Given the description of an element on the screen output the (x, y) to click on. 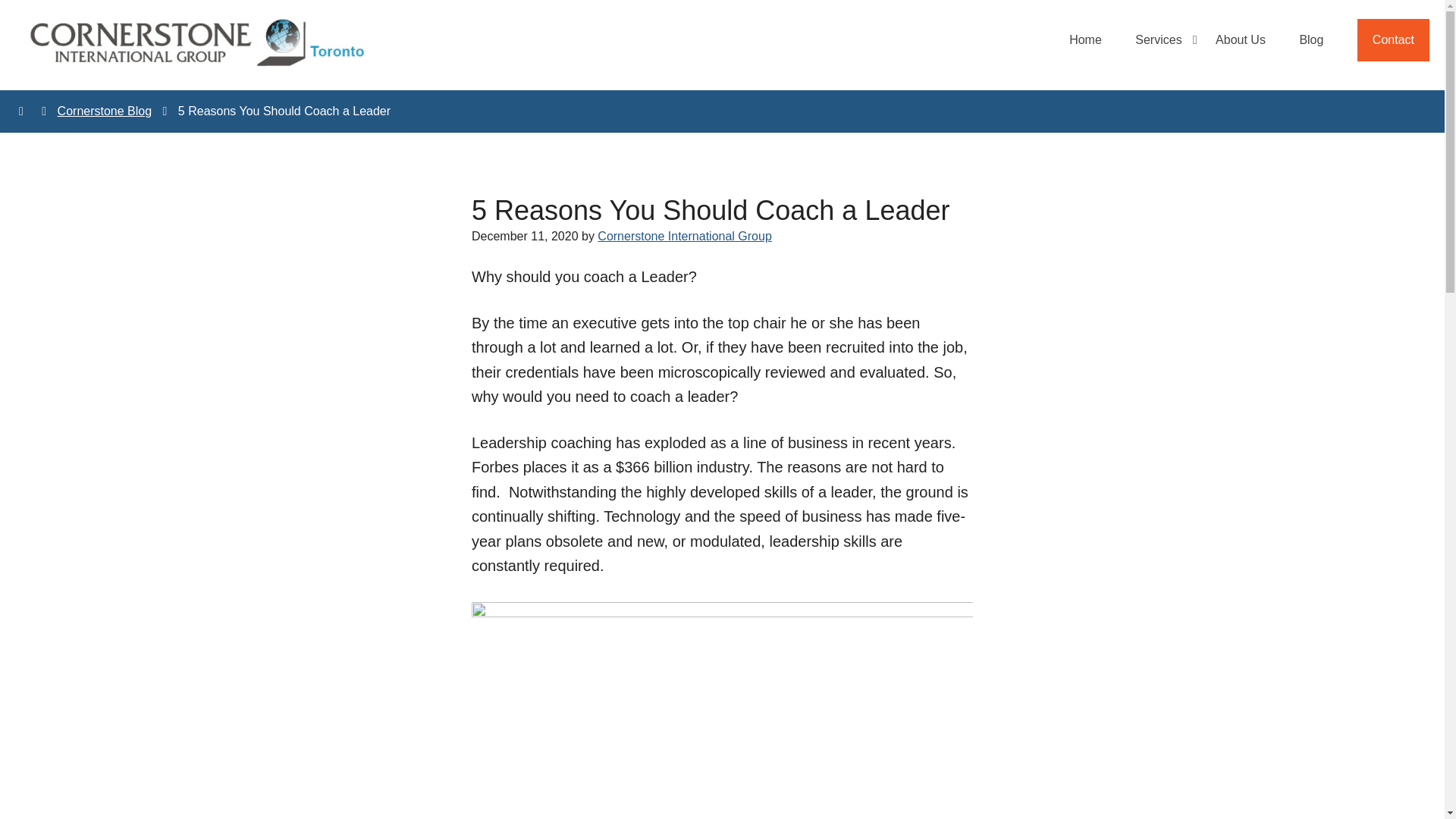
Contact (1392, 39)
Services (1157, 39)
Cornerstone International Group (683, 236)
Blog (1311, 39)
Cornerstone Toronto (197, 42)
Home (1085, 39)
Cornerstone Blog (105, 110)
About Us (1240, 39)
